Given the description of an element on the screen output the (x, y) to click on. 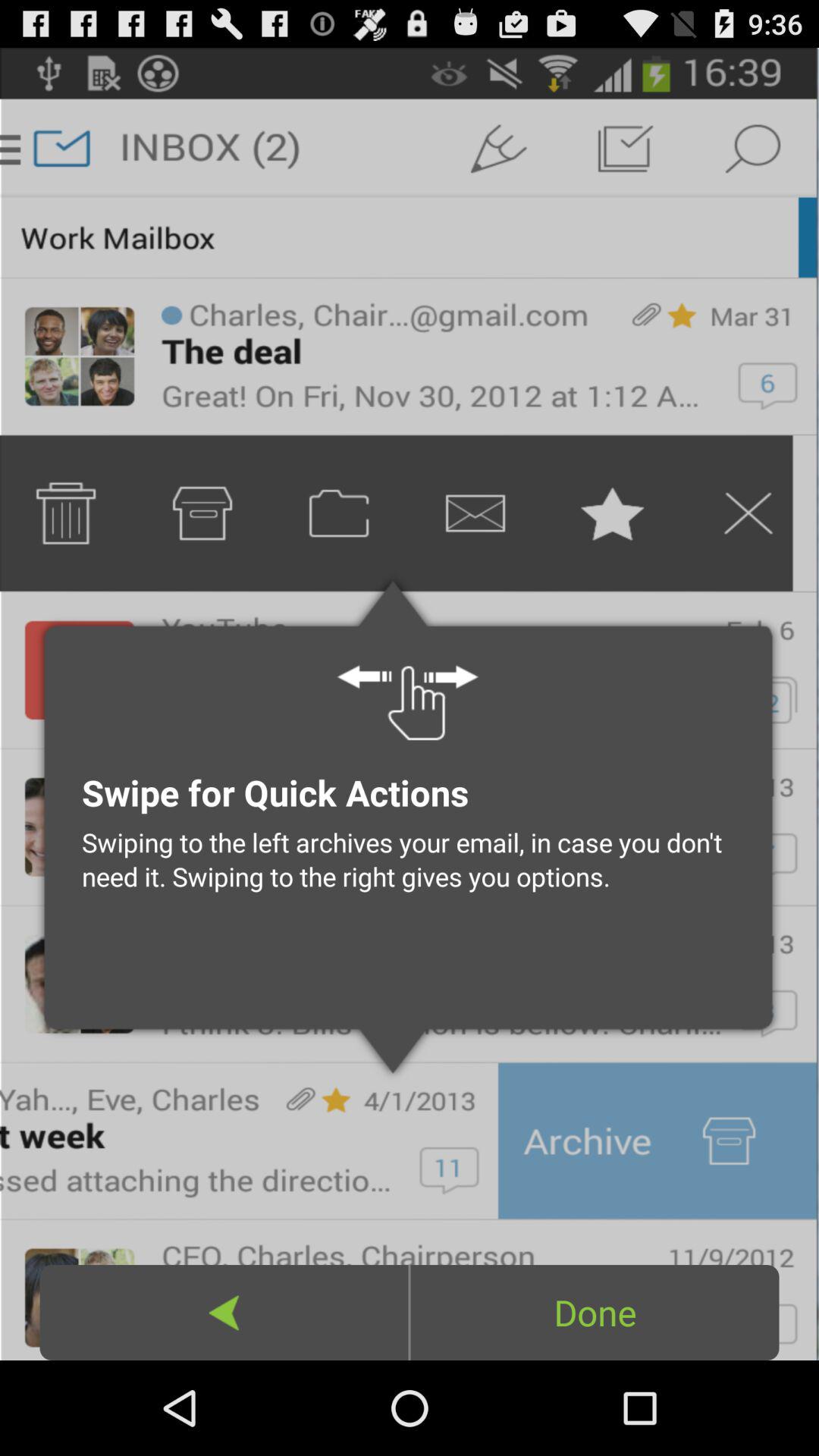
press the icon at the bottom left corner (223, 1312)
